Given the description of an element on the screen output the (x, y) to click on. 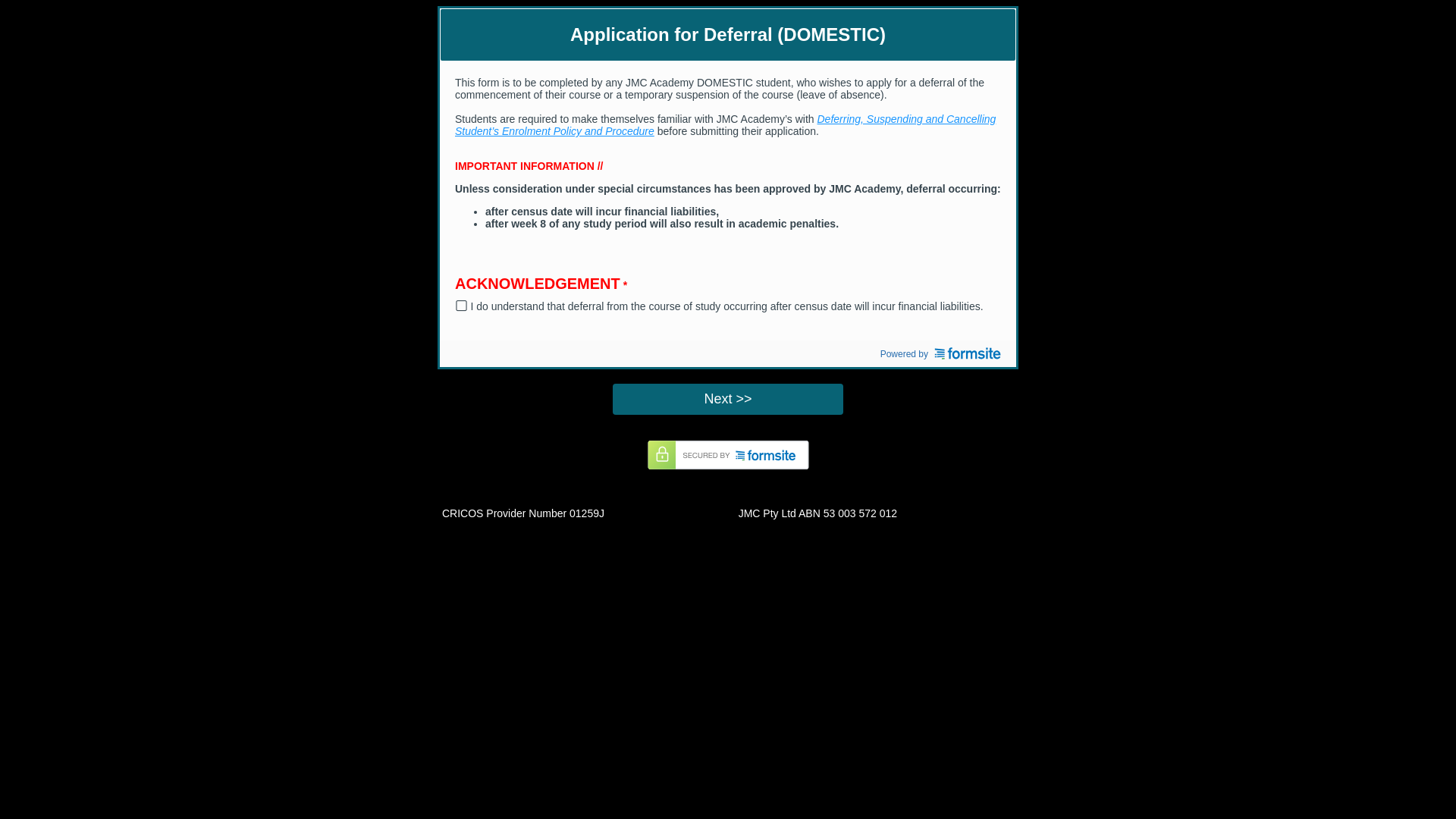
Powered by (936, 353)
